Given the description of an element on the screen output the (x, y) to click on. 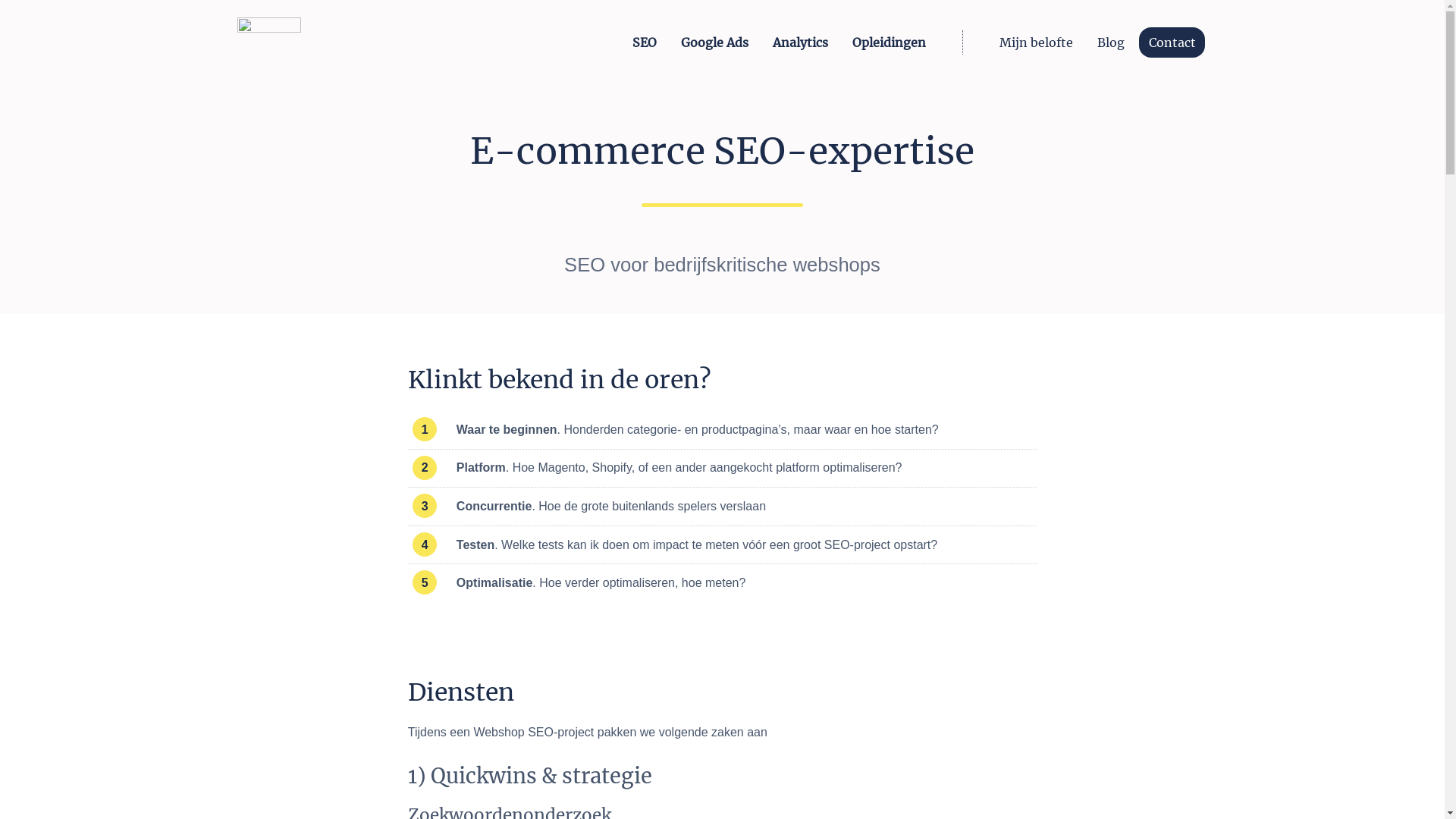
SEO Element type: text (644, 41)
Analytics Element type: text (799, 41)
Contact Element type: text (1172, 41)
Mijn belofte Element type: text (1035, 41)
Opleidingen Element type: text (888, 41)
Google Ads Element type: text (714, 41)
Blog Element type: text (1110, 41)
